Given the description of an element on the screen output the (x, y) to click on. 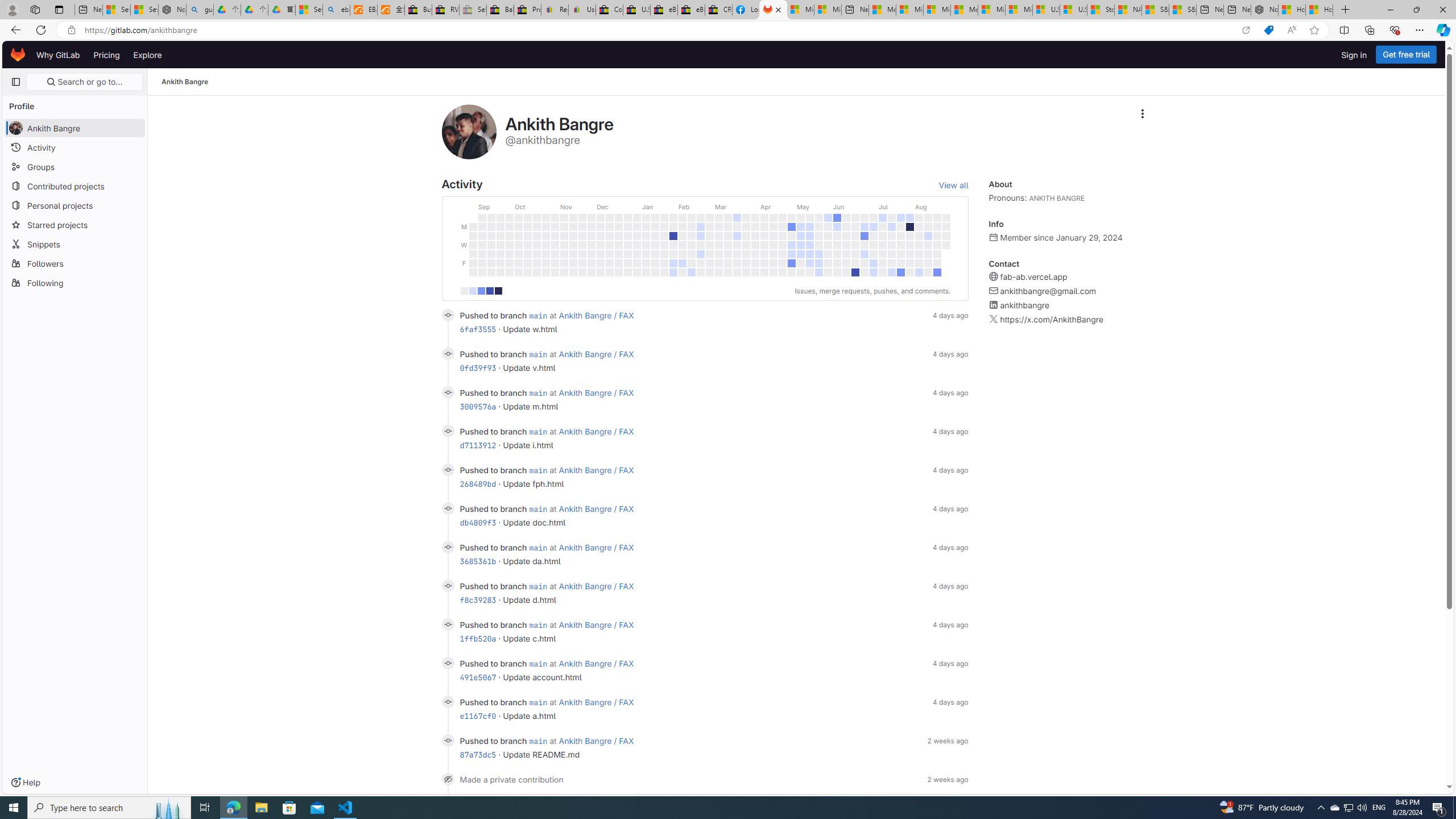
Sell worldwide with eBay - Sleeping (473, 9)
Copilot (Ctrl+Shift+.) (1442, 29)
Add this page to favorites (Ctrl+D) (1314, 29)
Groups (74, 166)
